Given the description of an element on the screen output the (x, y) to click on. 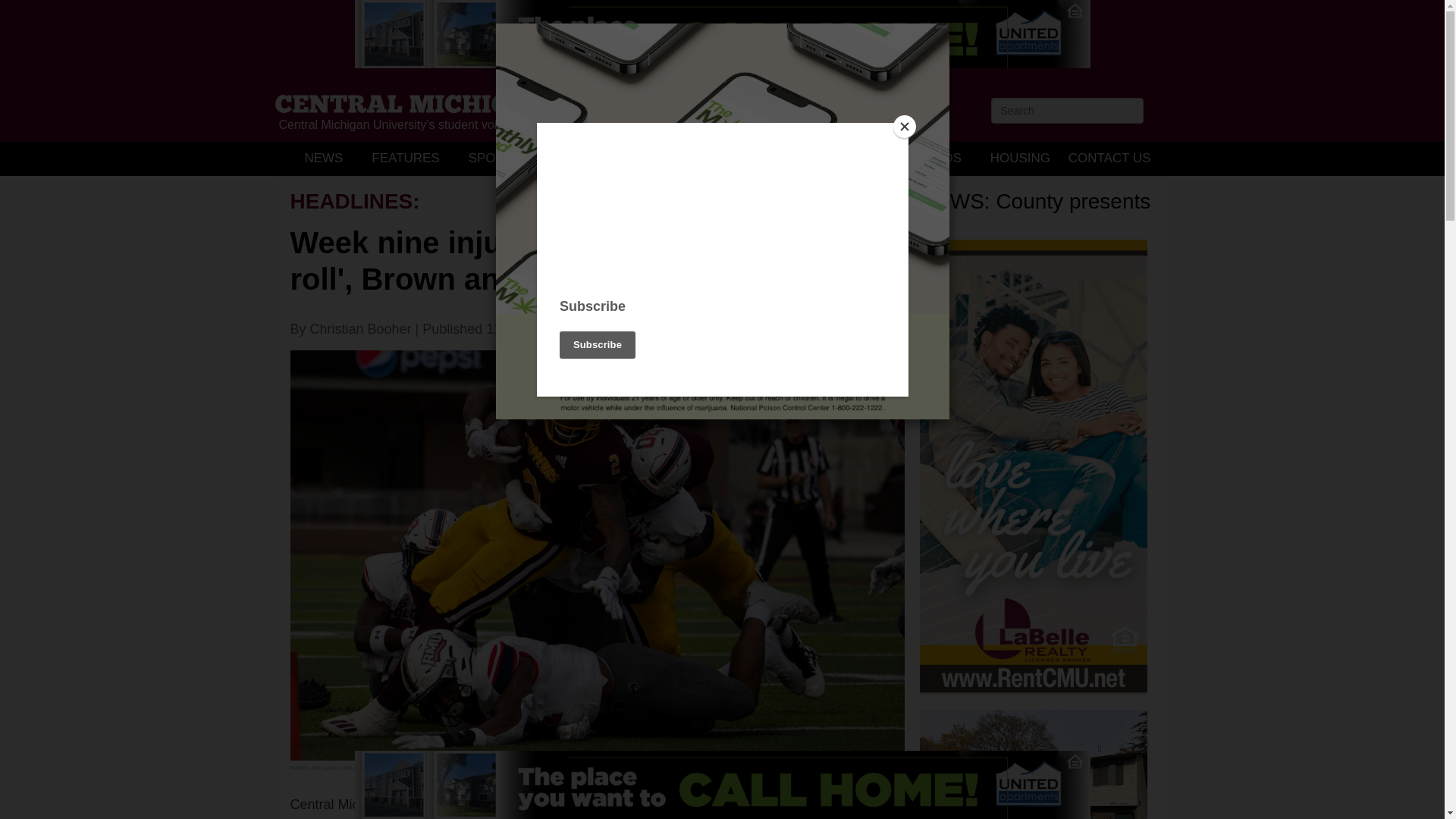
CLASSIFIEDS (919, 158)
ENTERTAINMENT (686, 158)
FEATURES (404, 158)
OM-HOUSING.COM (1032, 764)
CMUApts.com (722, 33)
CMUApts.com (722, 785)
MULTIMEDIA (809, 158)
NEWS (322, 158)
SPORTS (494, 158)
HOUSING (1019, 158)
OPINION (576, 158)
CONTACT US (1109, 158)
